Given the description of an element on the screen output the (x, y) to click on. 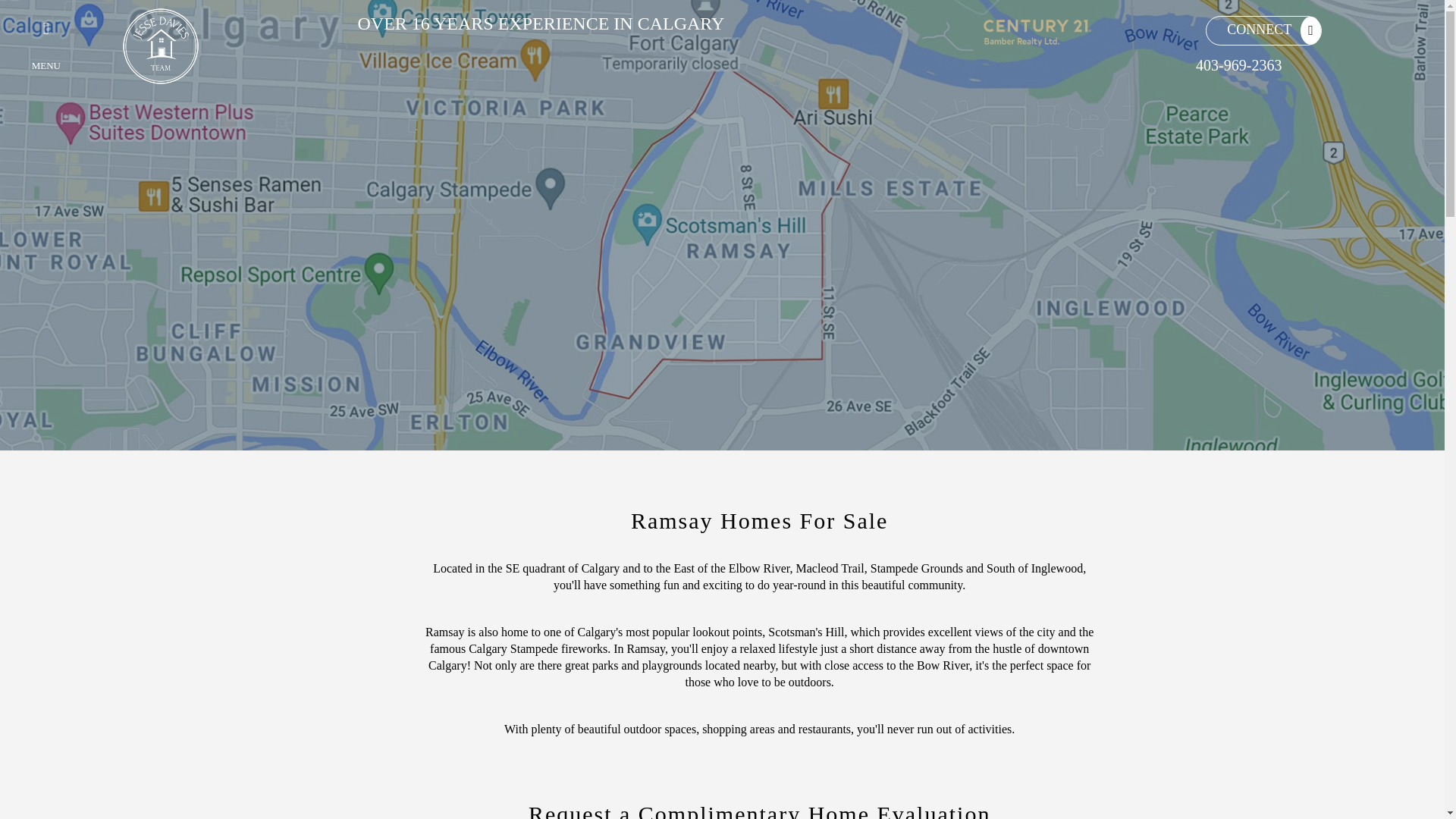
CONNECT (1254, 29)
